Given the description of an element on the screen output the (x, y) to click on. 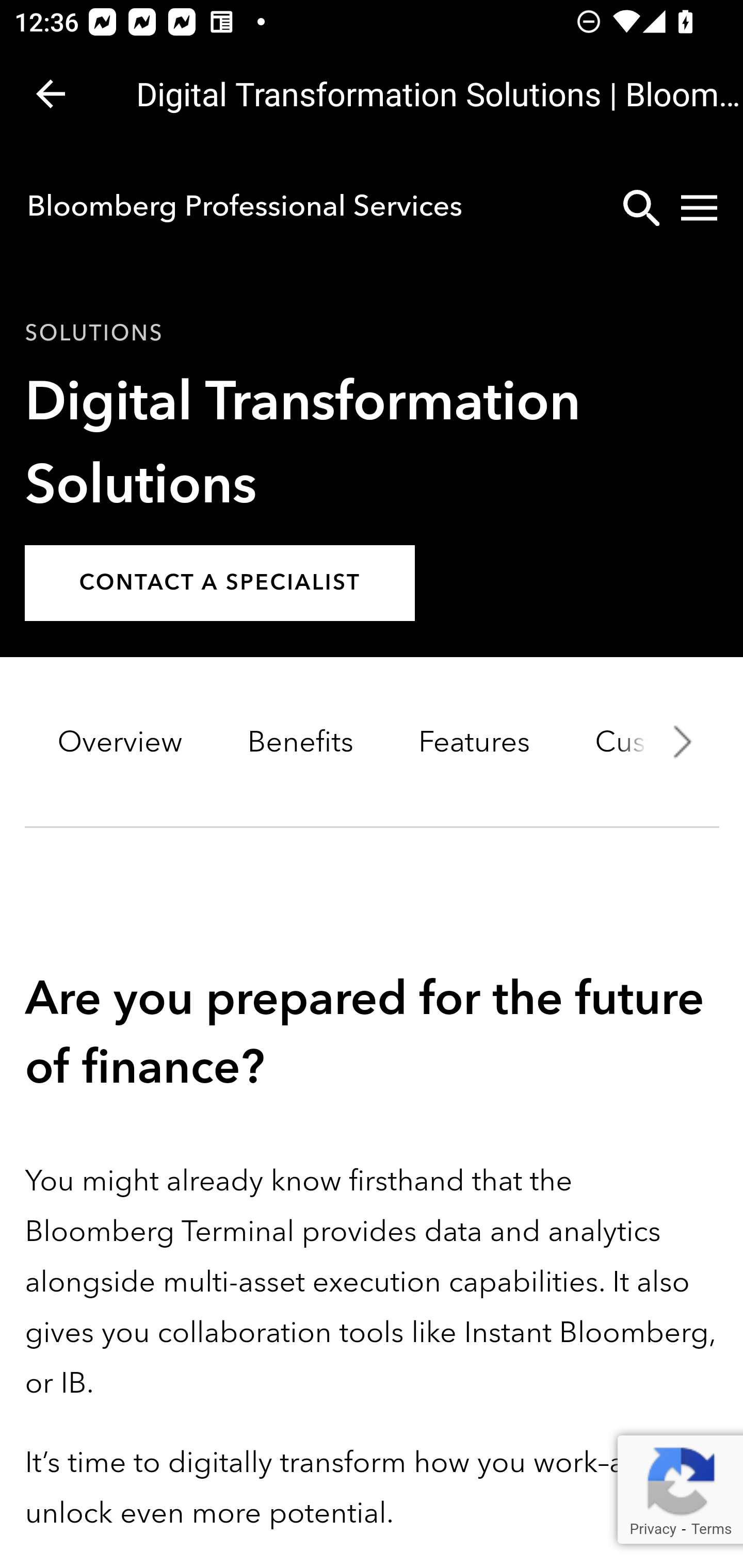
Navigate up (50, 93)
Open Search (641, 207)
MENU (698, 207)
Bloomberg Professional Services (244, 205)
CONTACT A SPECIALIST (219, 583)
Overview (119, 743)
Benefits (300, 743)
Features (473, 743)
Customization (652, 743)
